Given the description of an element on the screen output the (x, y) to click on. 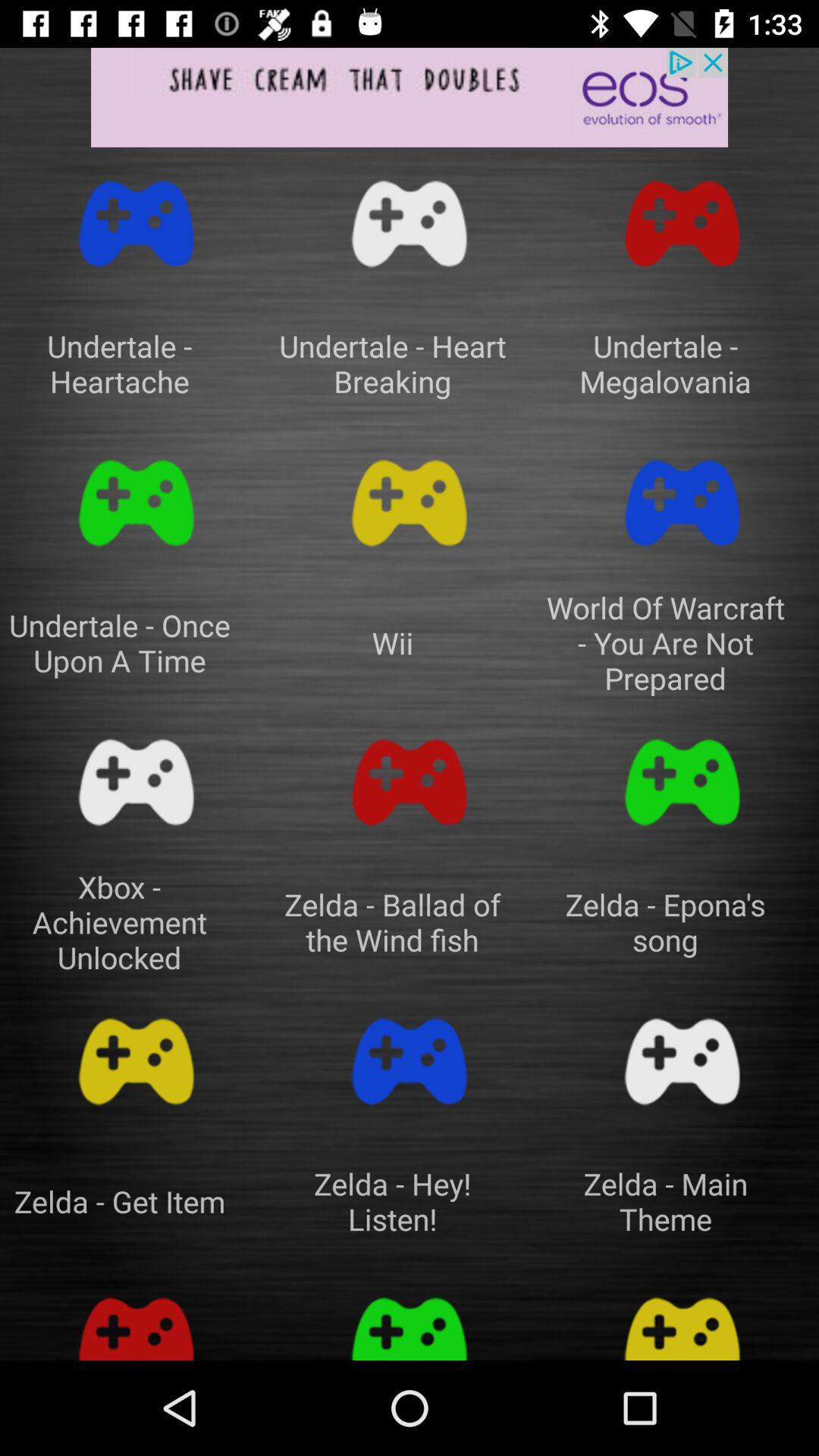
choose a cover (682, 223)
